Given the description of an element on the screen output the (x, y) to click on. 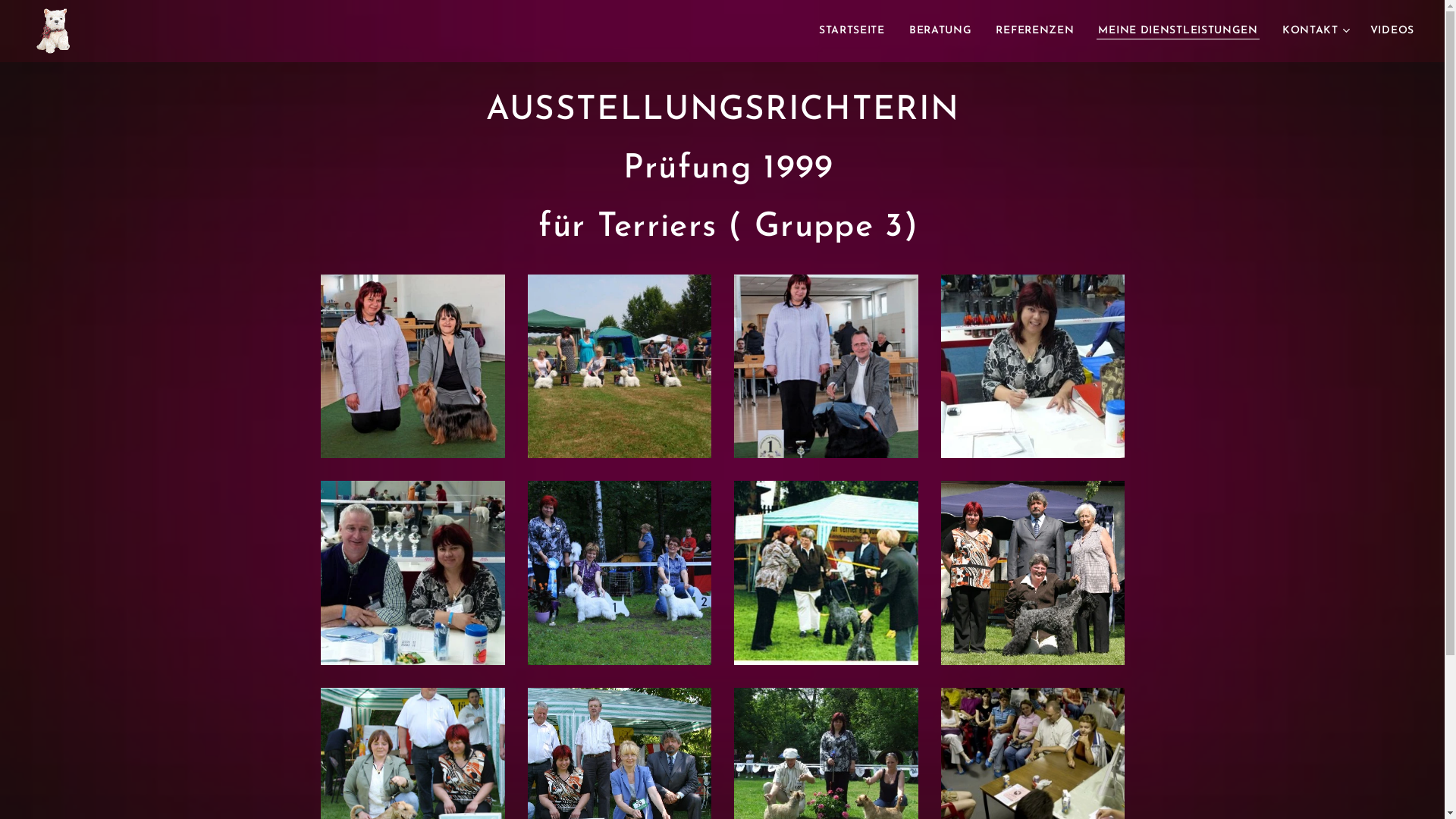
REFERENZEN Element type: text (1034, 31)
BERATUNG Element type: text (940, 31)
STARTSEITE Element type: text (856, 31)
VIDEOS Element type: text (1386, 31)
MEINE DIENSTLEISTUNGEN Element type: text (1177, 31)
KONTAKT Element type: text (1314, 31)
